Given the description of an element on the screen output the (x, y) to click on. 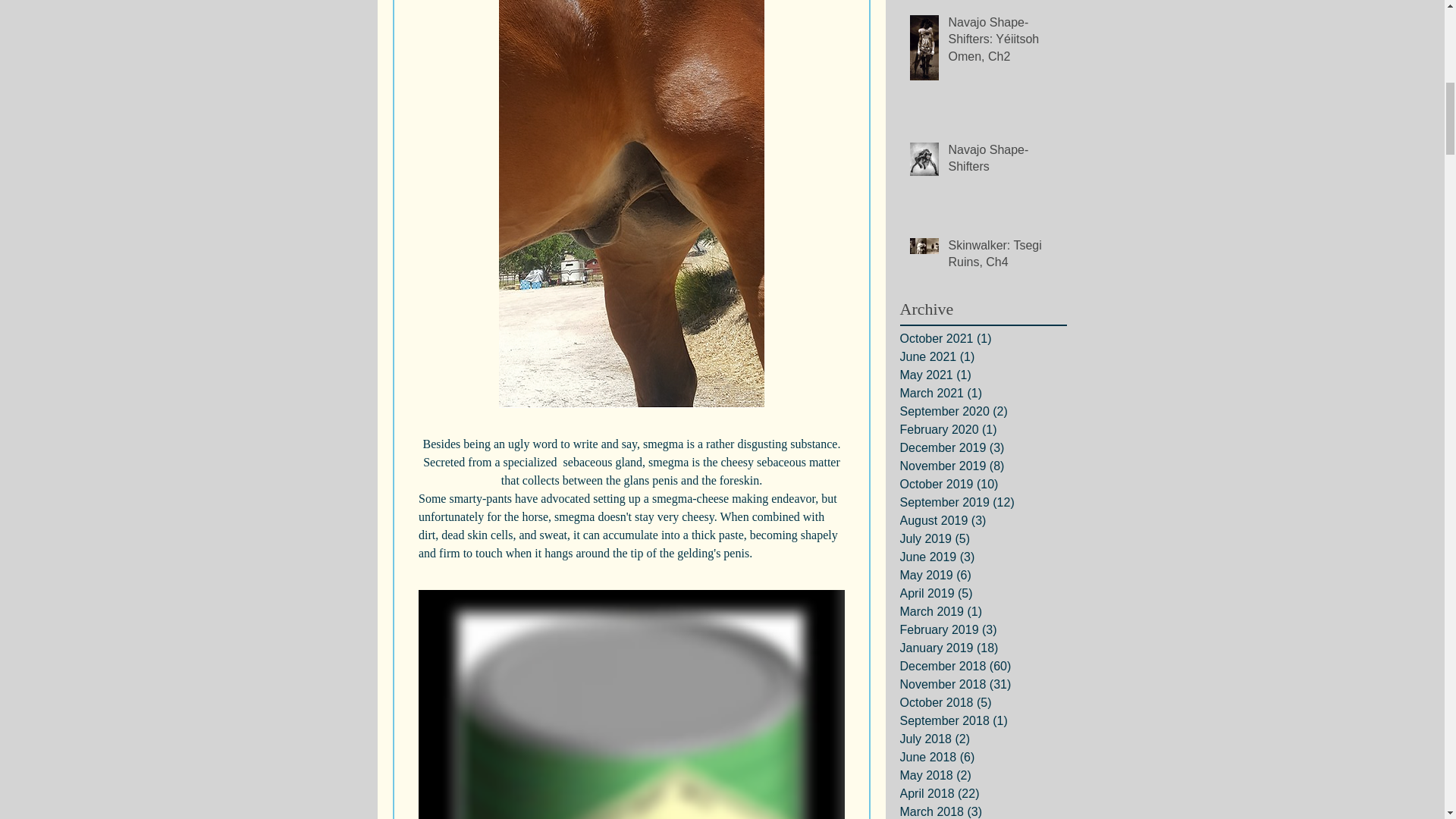
Skinwalker: Tsegi Ruins, Ch4 (1002, 257)
Navajo Shape-Shifters (1002, 161)
